Given the description of an element on the screen output the (x, y) to click on. 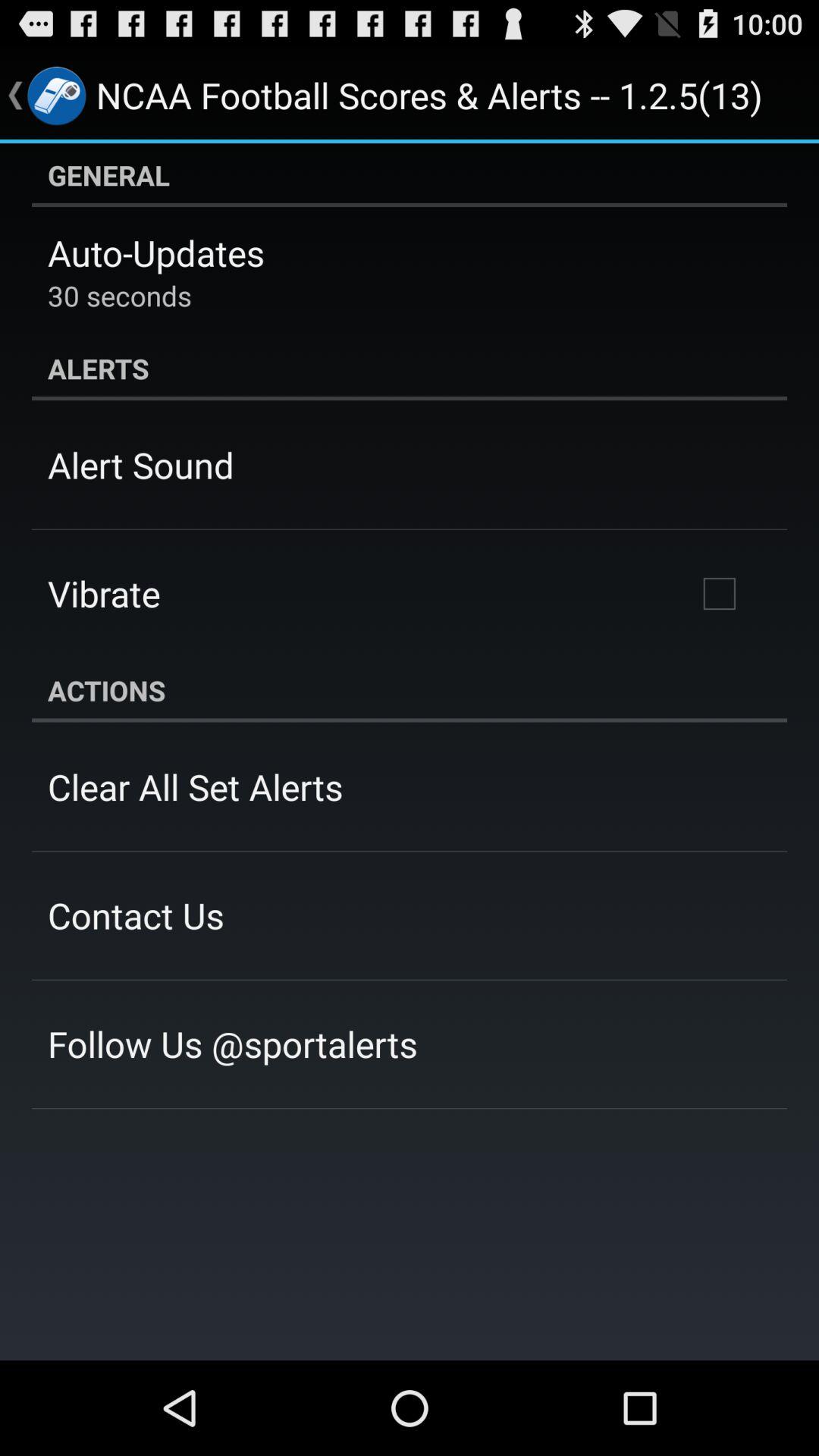
jump to the actions app (409, 690)
